Given the description of an element on the screen output the (x, y) to click on. 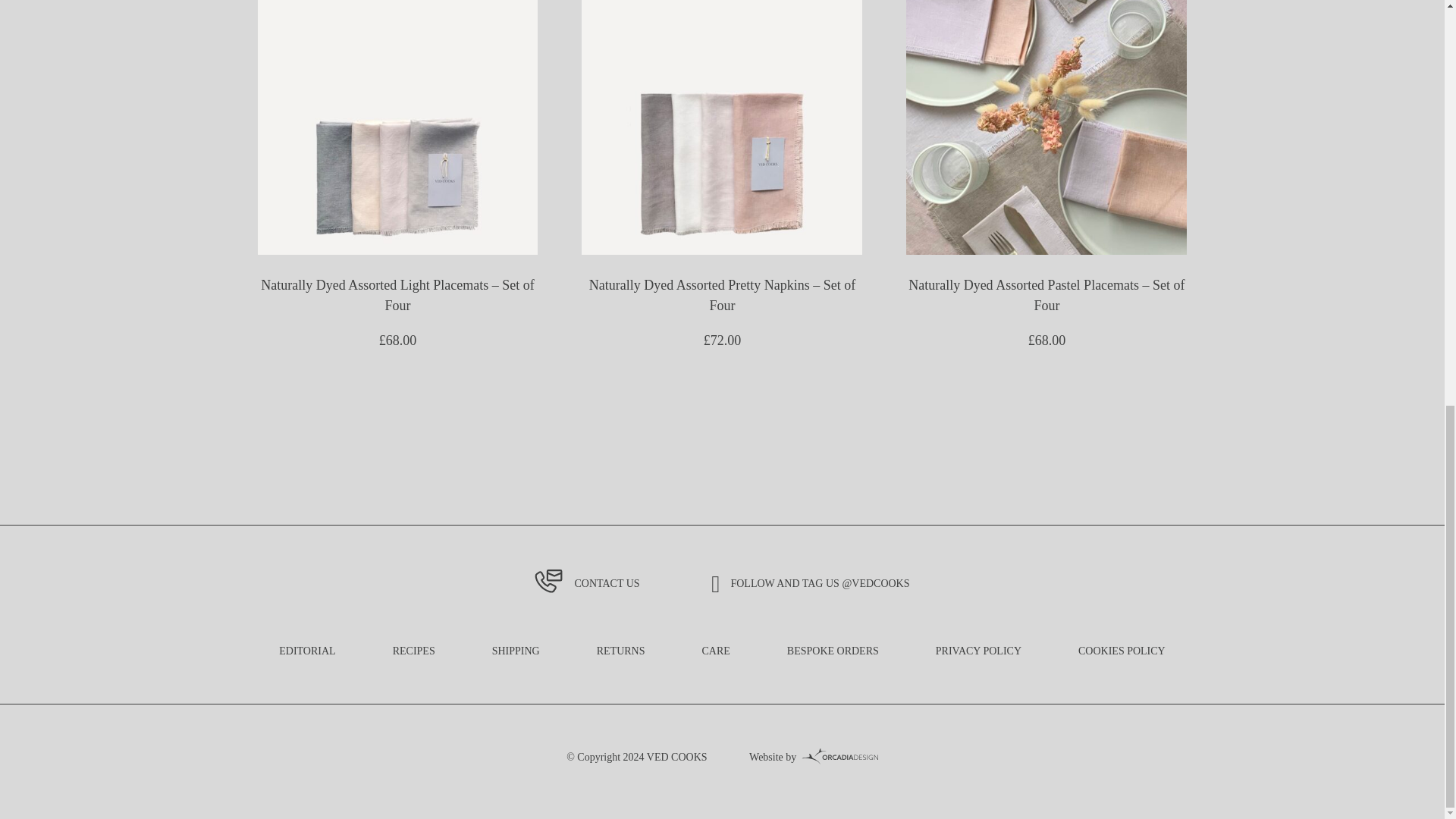
RETURNS (620, 651)
RECIPES (414, 651)
BESPOKE ORDERS (833, 651)
CARE (715, 651)
SHIPPING (516, 651)
Website by (772, 757)
COOKIES POLICY (1122, 651)
PRIVACY POLICY (979, 651)
CONTACT US (586, 583)
EDITORIAL (306, 651)
